Given the description of an element on the screen output the (x, y) to click on. 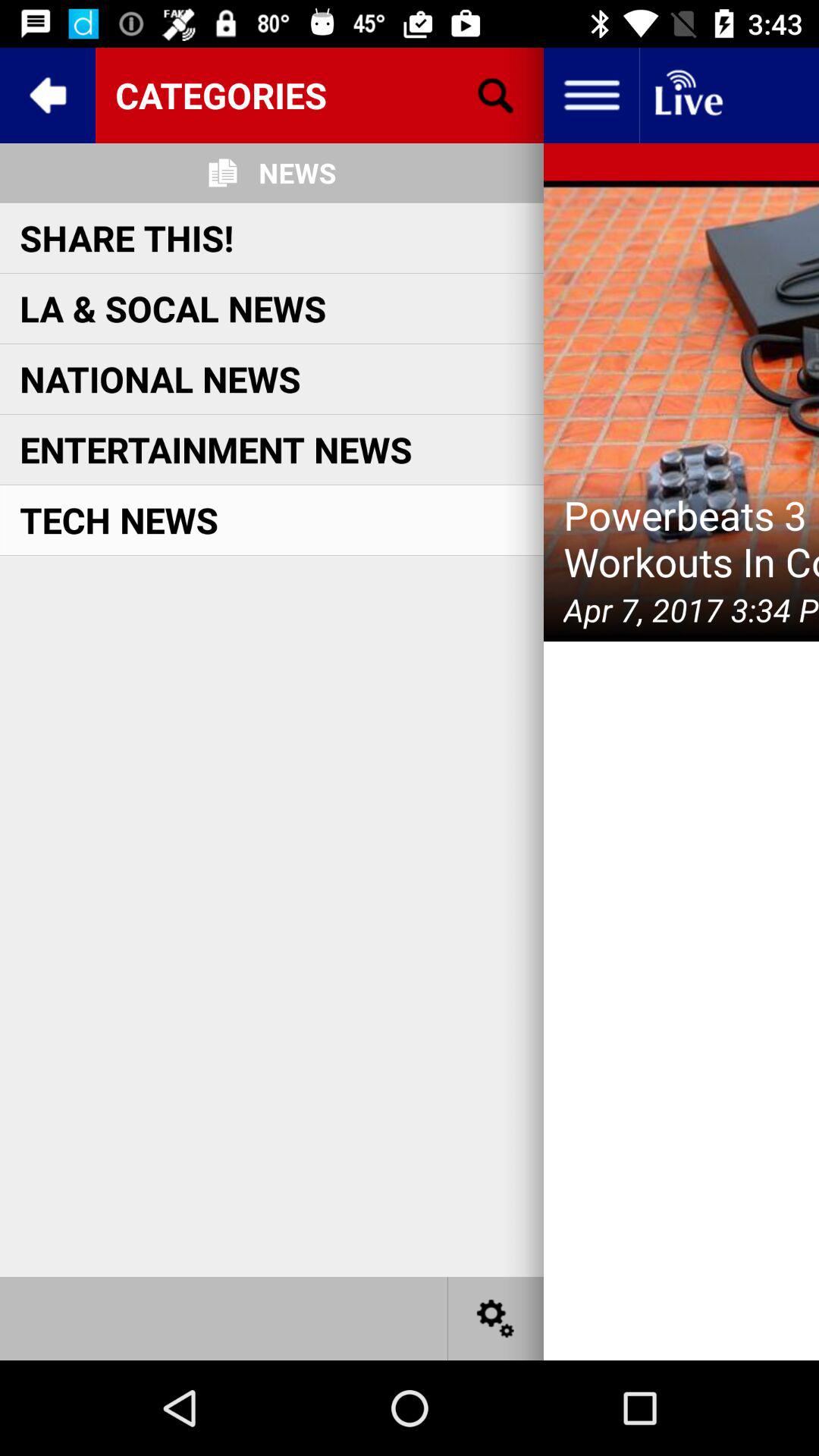
open dropdown menu (591, 95)
